Given the description of an element on the screen output the (x, y) to click on. 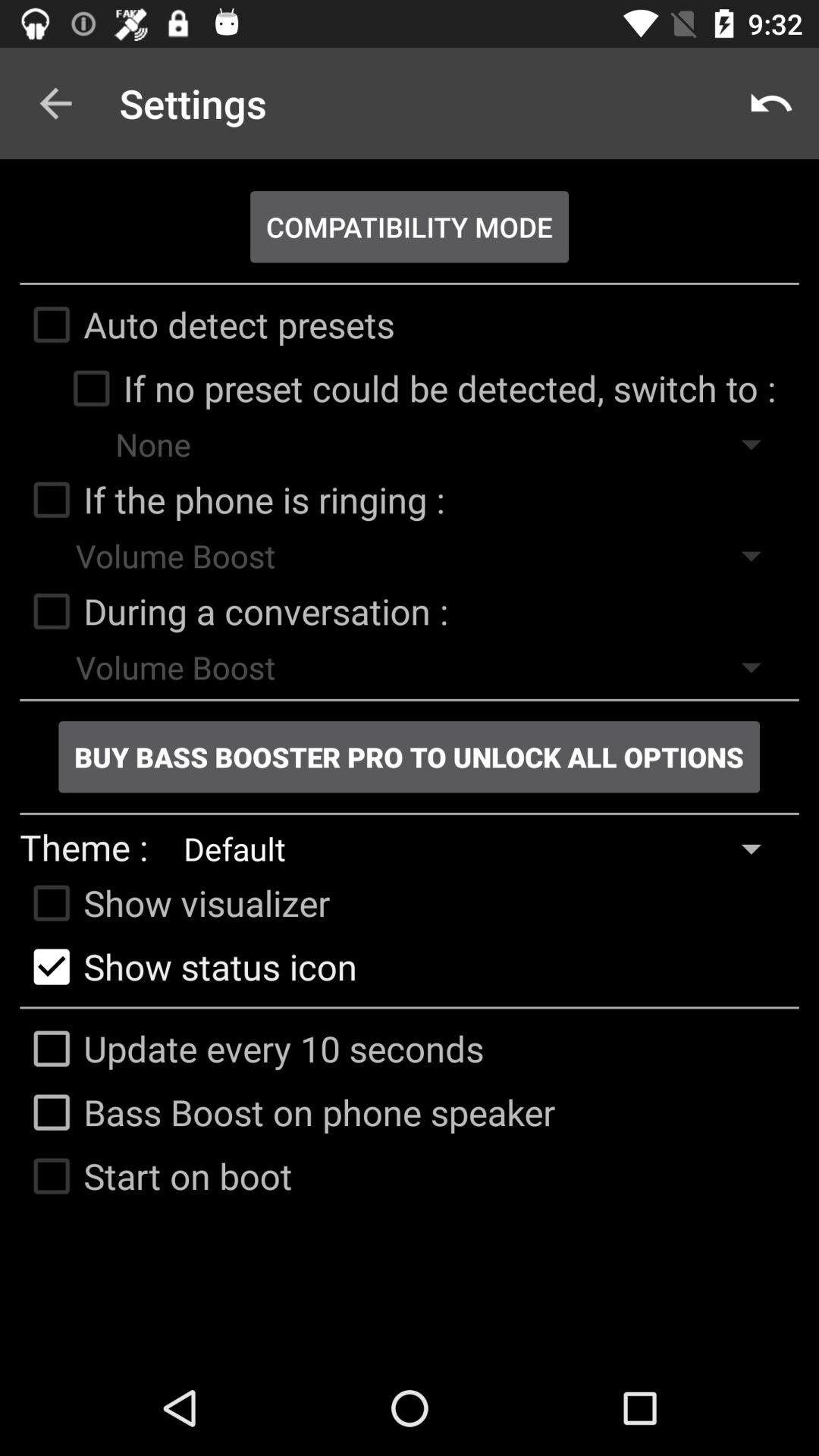
turn on app below settings app (409, 226)
